Given the description of an element on the screen output the (x, y) to click on. 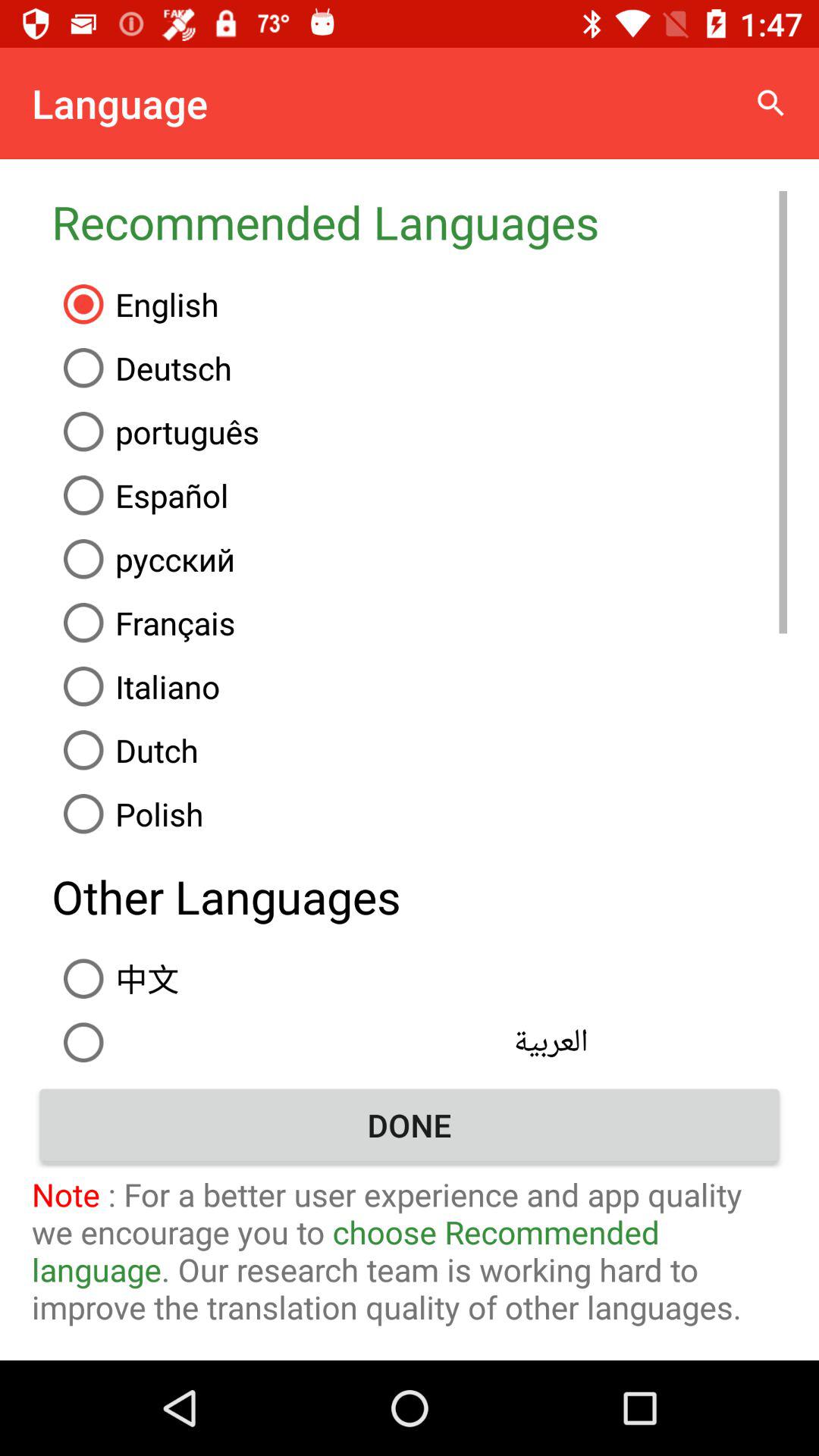
launch the italiano icon (419, 686)
